Given the description of an element on the screen output the (x, y) to click on. 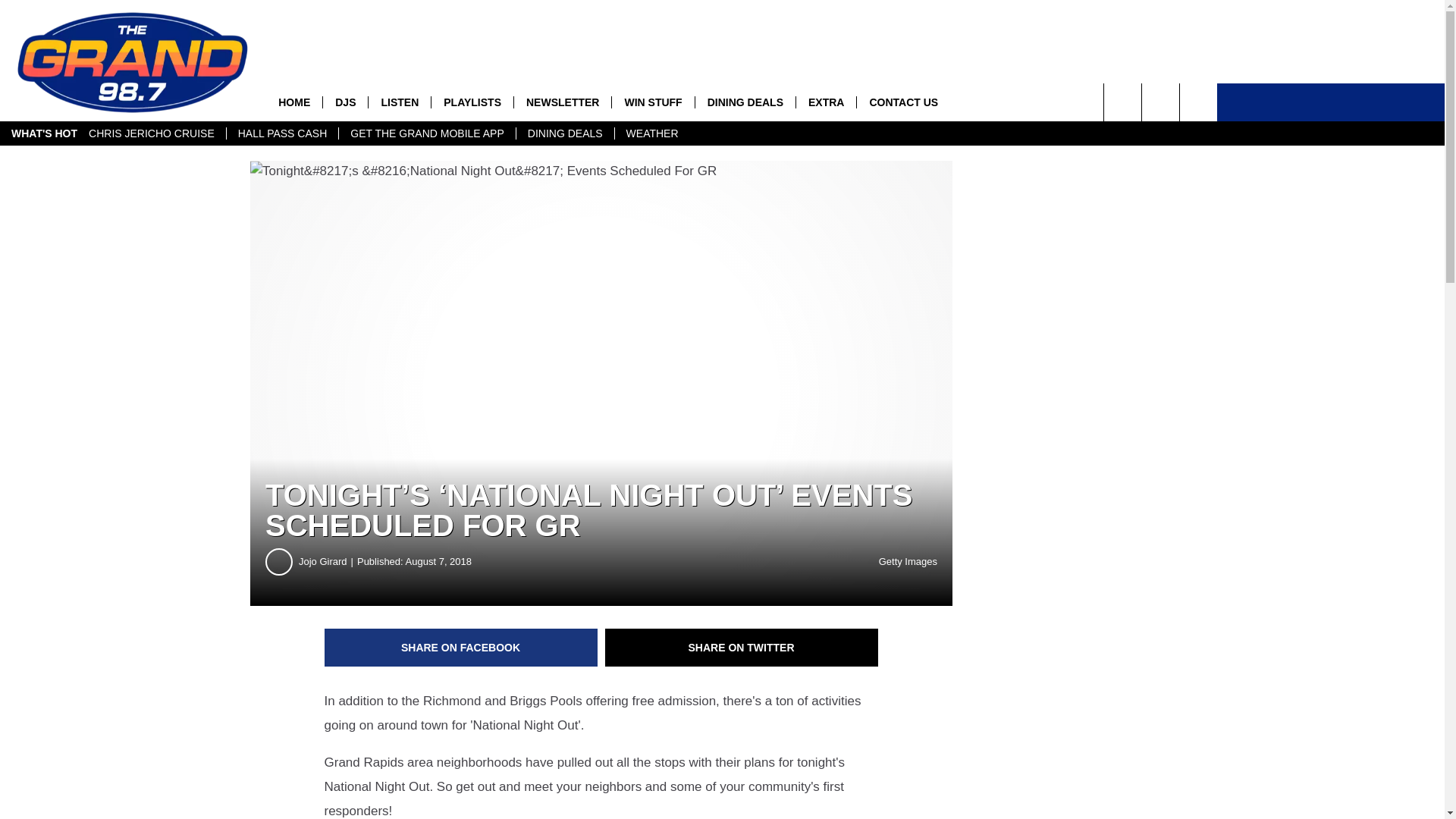
WIN STUFF (652, 102)
EXTRA (825, 102)
HOME (293, 102)
CHRIS JERICHO CRUISE (151, 133)
CONTACT US (903, 102)
PLAYLISTS (471, 102)
HALL PASS CASH (282, 133)
Share on Facebook (460, 647)
DINING DEALS (564, 133)
Share on Twitter (741, 647)
